Given the description of an element on the screen output the (x, y) to click on. 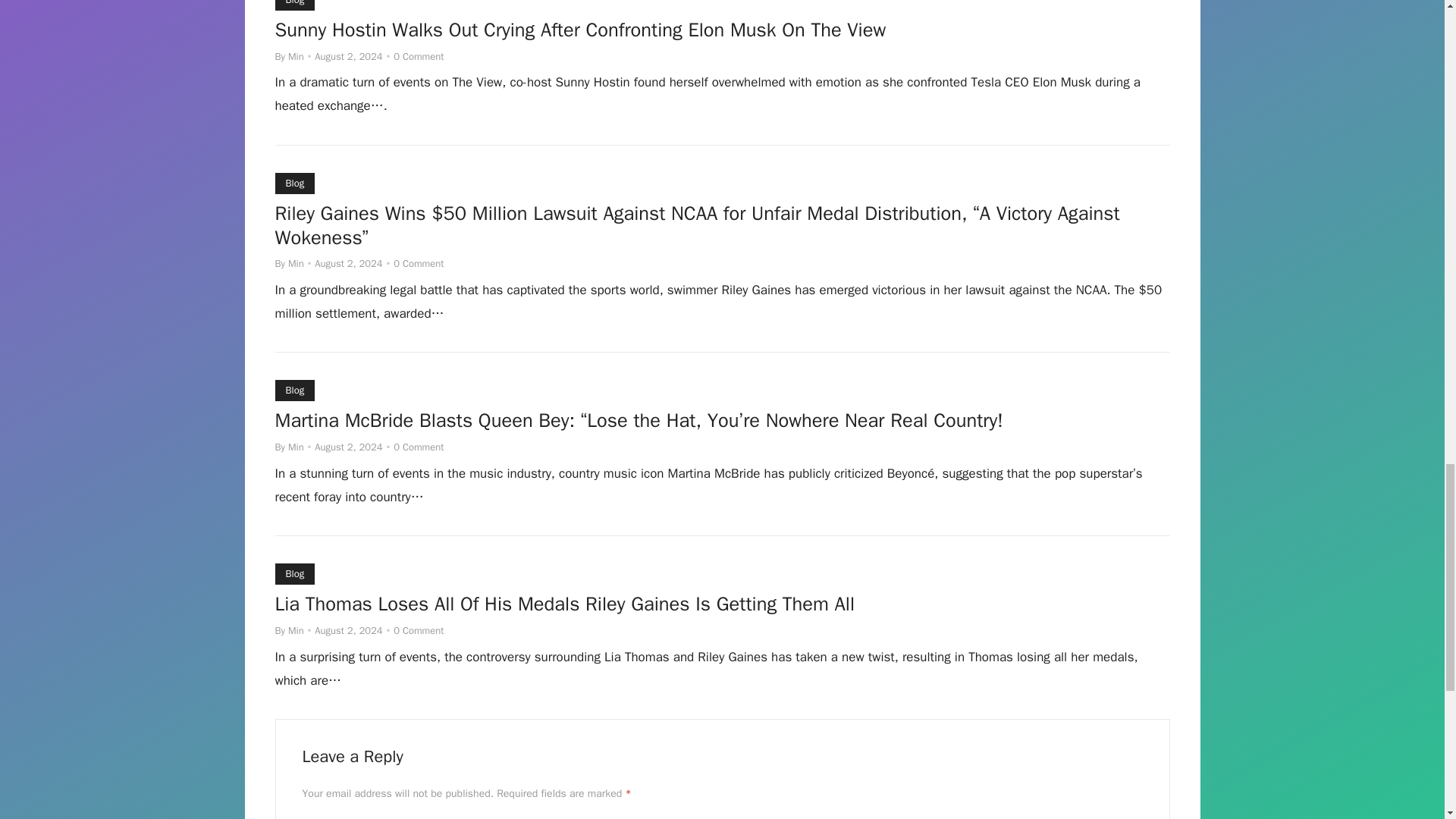
Blog (294, 183)
Blog (294, 5)
Posts by Min (296, 56)
Min (296, 56)
Posts by Min (296, 263)
0 Comment (418, 630)
Min (296, 263)
Blog (294, 573)
0 Comment (418, 446)
Blog (294, 390)
Posts by Min (296, 630)
0 Comment (418, 56)
Posts by Min (296, 446)
